Given the description of an element on the screen output the (x, y) to click on. 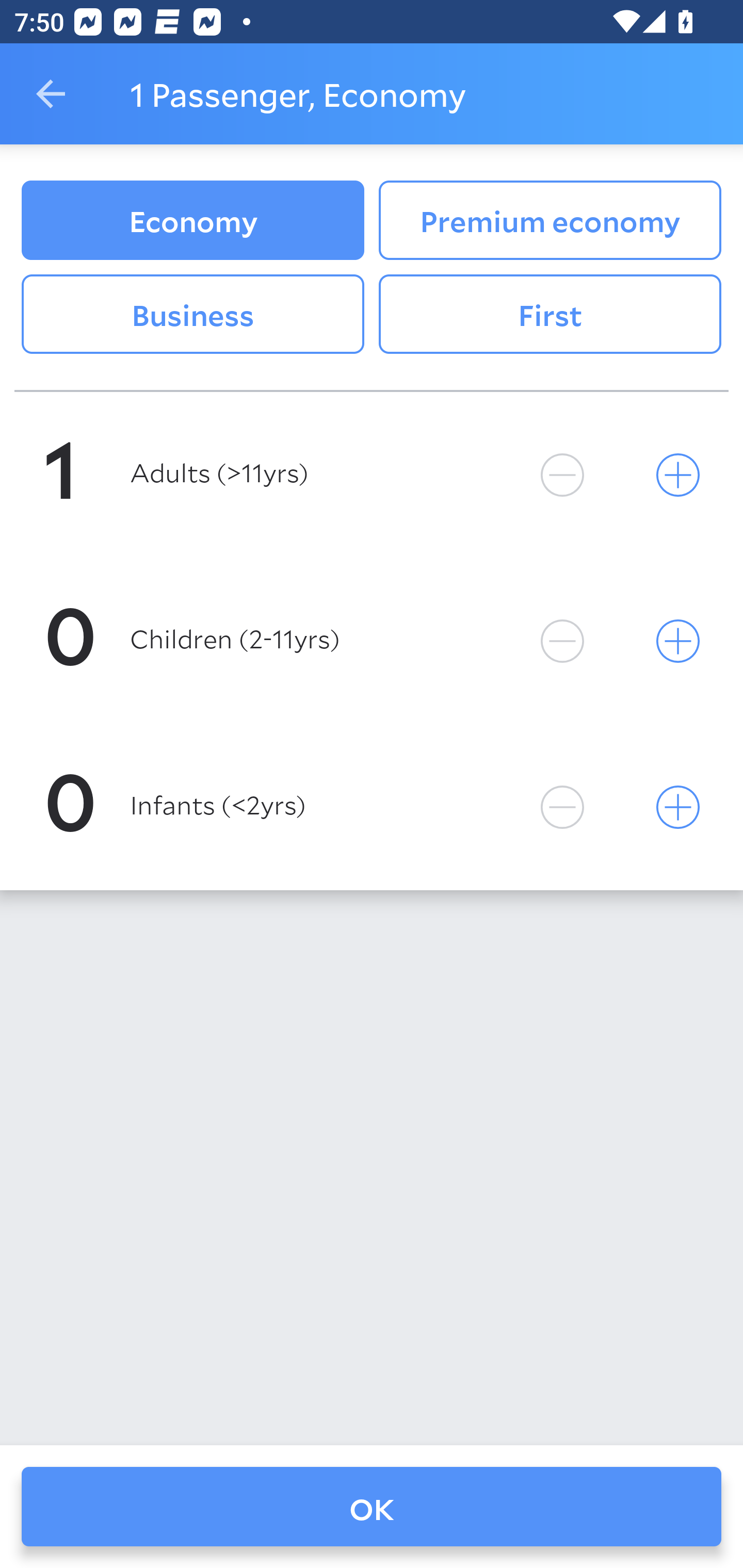
Navigate up (50, 93)
Economy (192, 220)
Premium economy (549, 220)
Business (192, 314)
First (549, 314)
OK (371, 1506)
